Given the description of an element on the screen output the (x, y) to click on. 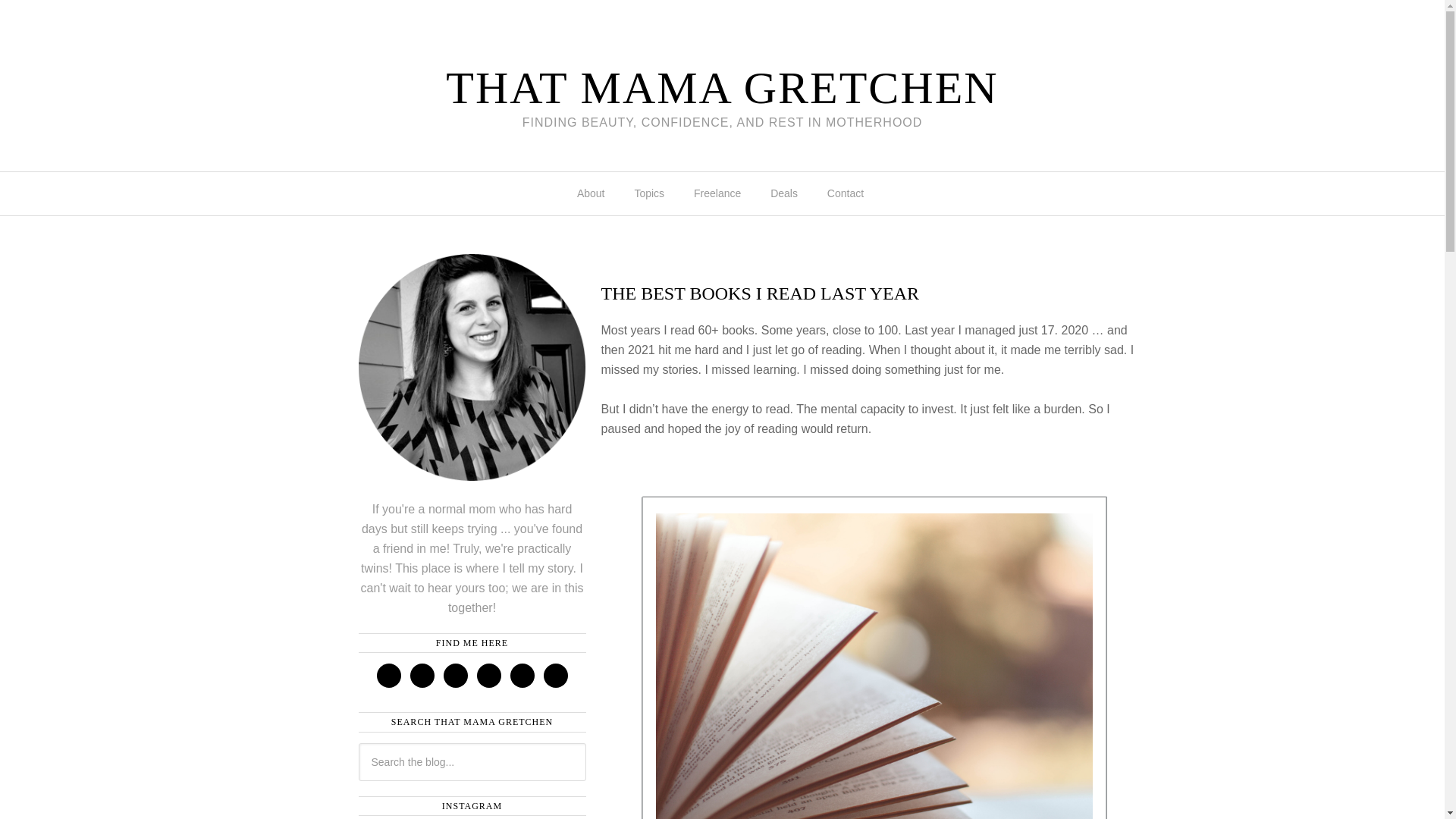
THAT MAMA GRETCHEN (721, 88)
Contact (847, 193)
Freelance (718, 193)
Topics (651, 193)
About (593, 193)
Deals (785, 193)
